Given the description of an element on the screen output the (x, y) to click on. 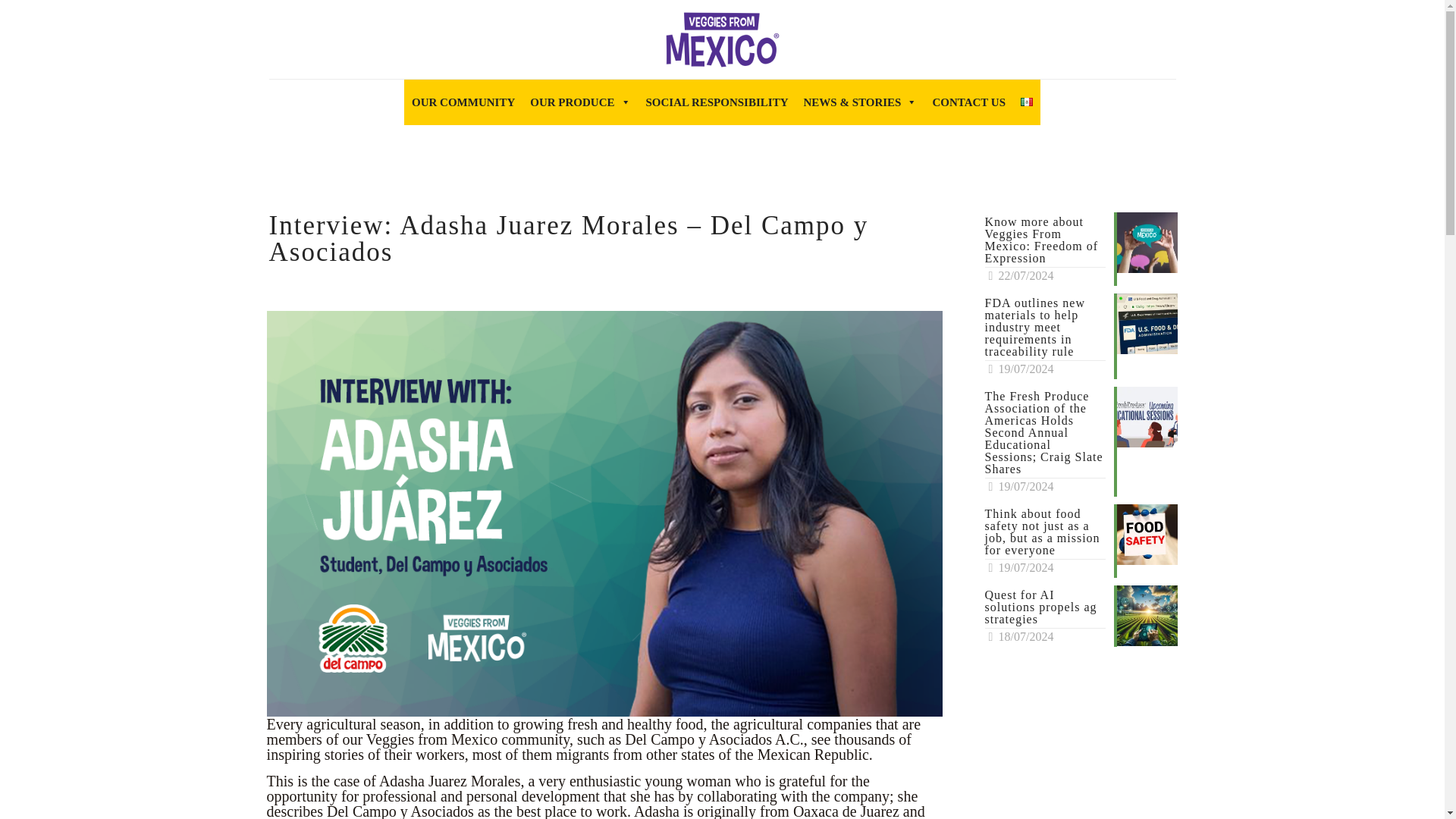
OUR PRODUCE (579, 102)
SOCIAL RESPONSIBILITY (717, 102)
Veggies From Mexico (721, 39)
CONTACT US (968, 102)
OUR COMMUNITY (463, 102)
